Given the description of an element on the screen output the (x, y) to click on. 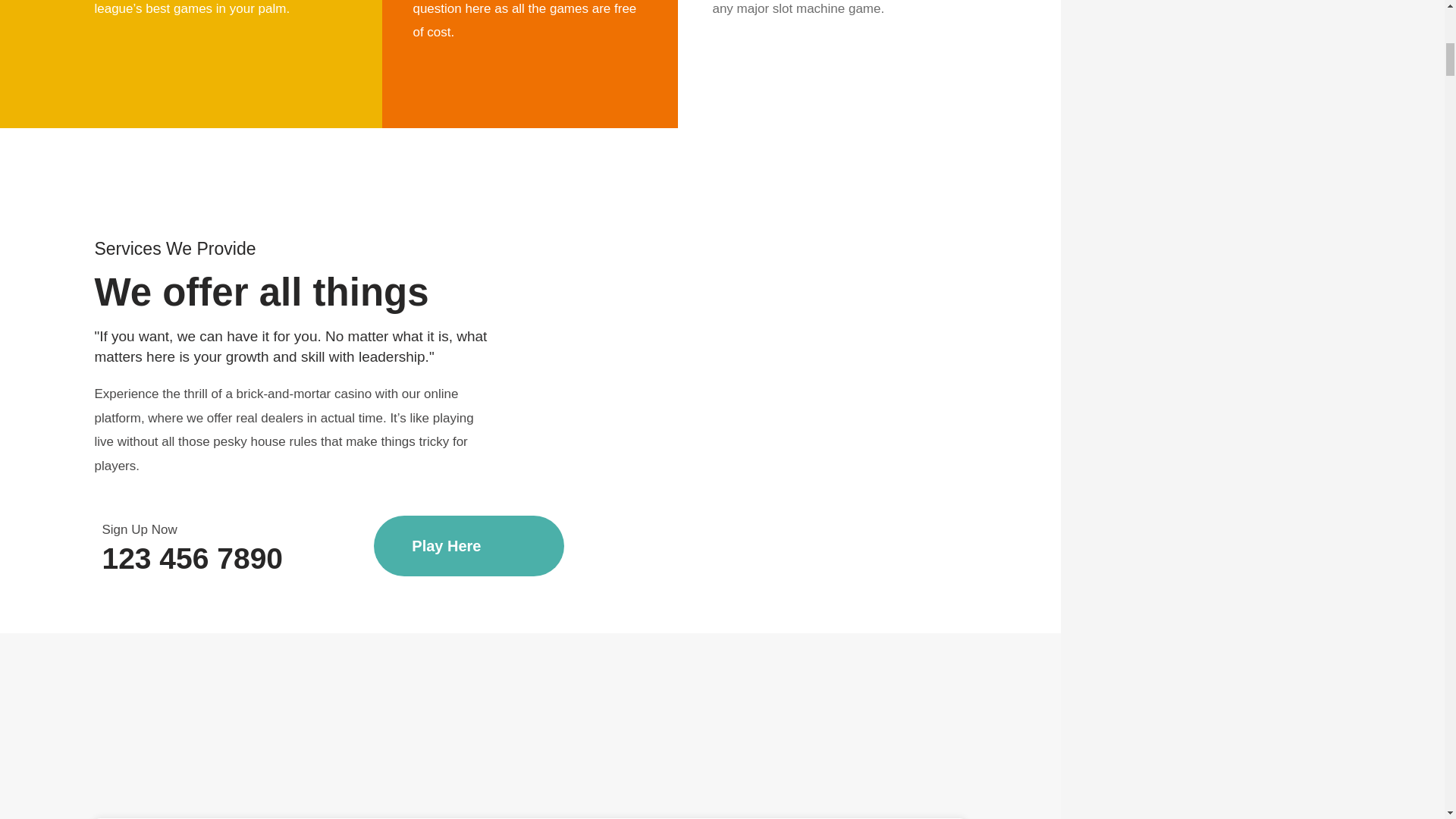
Play Here (469, 545)
